Given the description of an element on the screen output the (x, y) to click on. 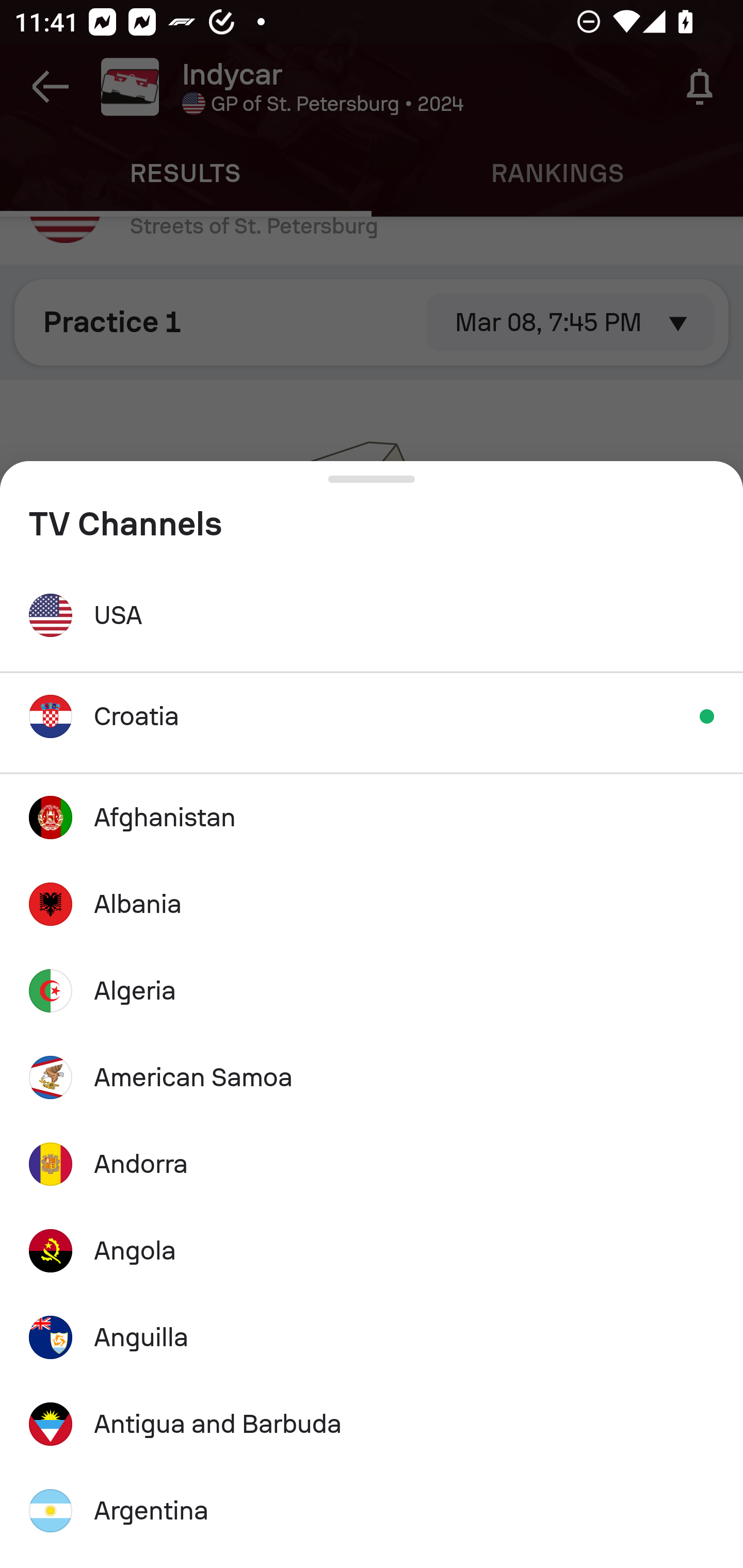
USA (371, 615)
Croatia (371, 716)
Afghanistan (371, 817)
Albania (371, 903)
Algeria (371, 990)
American Samoa (371, 1077)
Andorra (371, 1164)
Angola (371, 1250)
Anguilla (371, 1337)
Antigua and Barbuda (371, 1424)
Argentina (371, 1510)
